Given the description of an element on the screen output the (x, y) to click on. 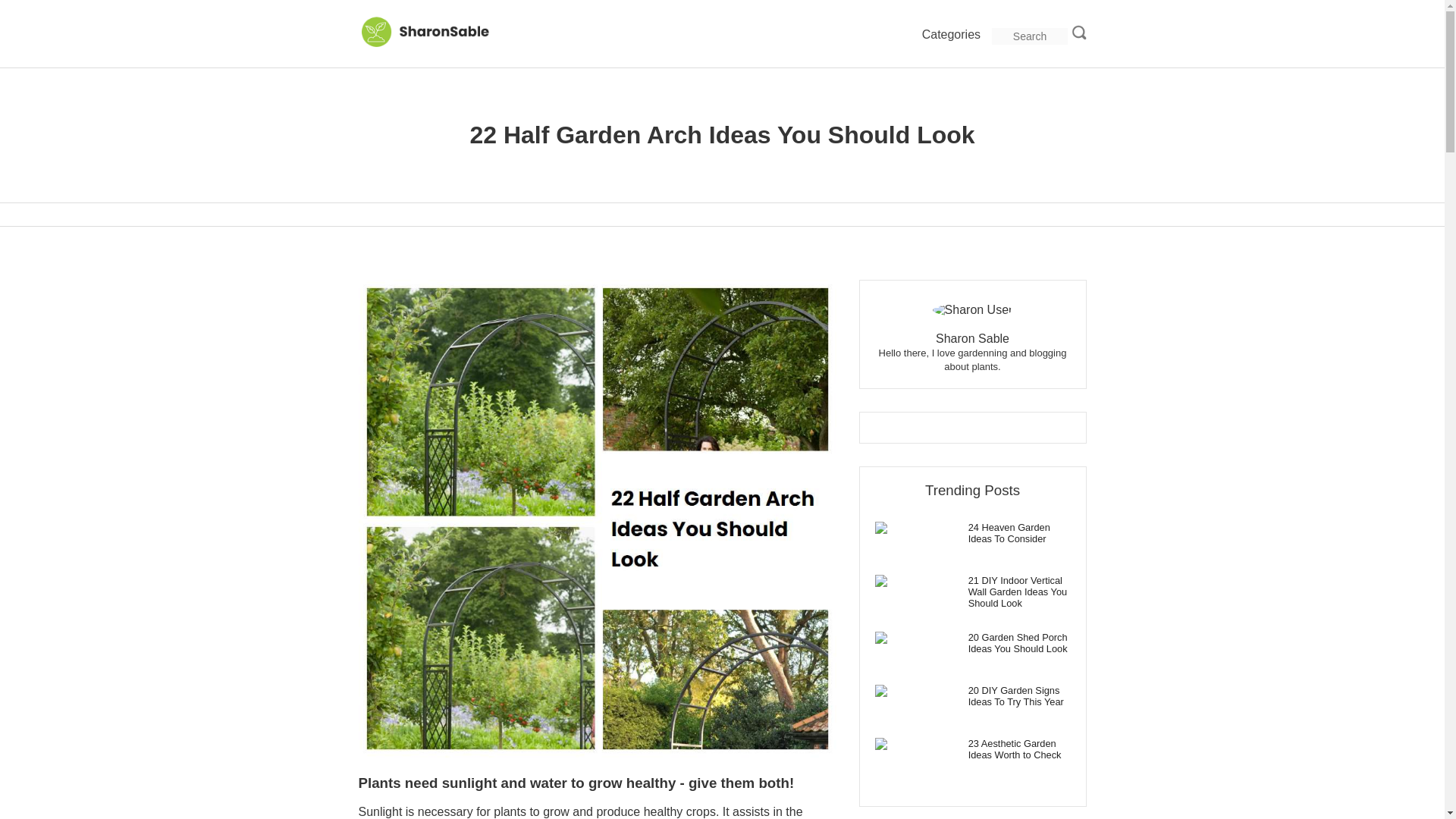
23 Aesthetic Garden Ideas Worth to Check (972, 748)
21 DIY Indoor Vertical Wall Garden Ideas You Should Look (972, 591)
Categories (951, 34)
Home Page (433, 44)
20 Garden Shed Porch Ideas You Should Look (972, 642)
24 Heaven Garden Ideas To Consider (972, 532)
20 DIY Garden Signs Ideas To Try This Year (972, 695)
